Given the description of an element on the screen output the (x, y) to click on. 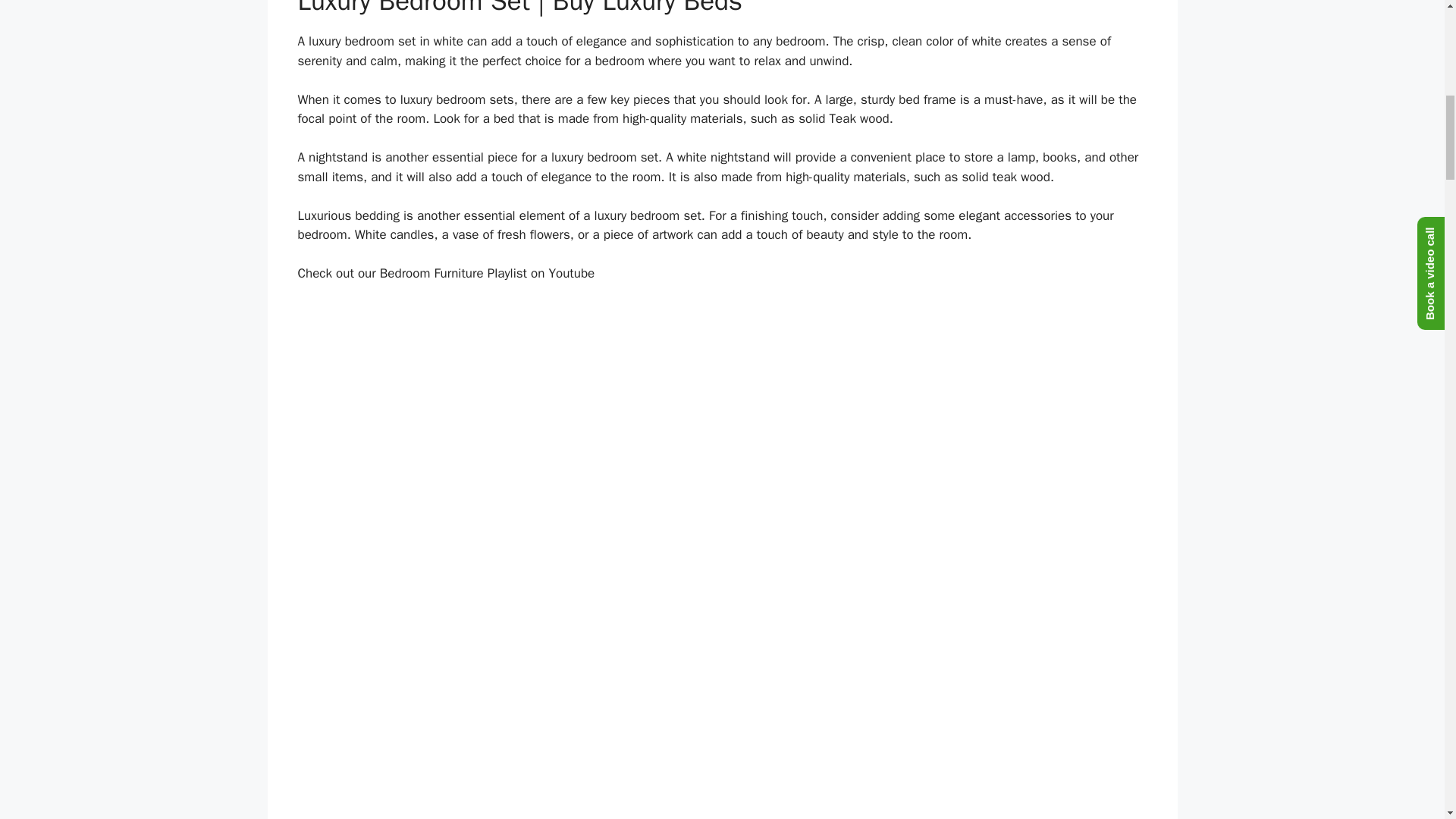
Scroll back to top (1406, 720)
